Given the description of an element on the screen output the (x, y) to click on. 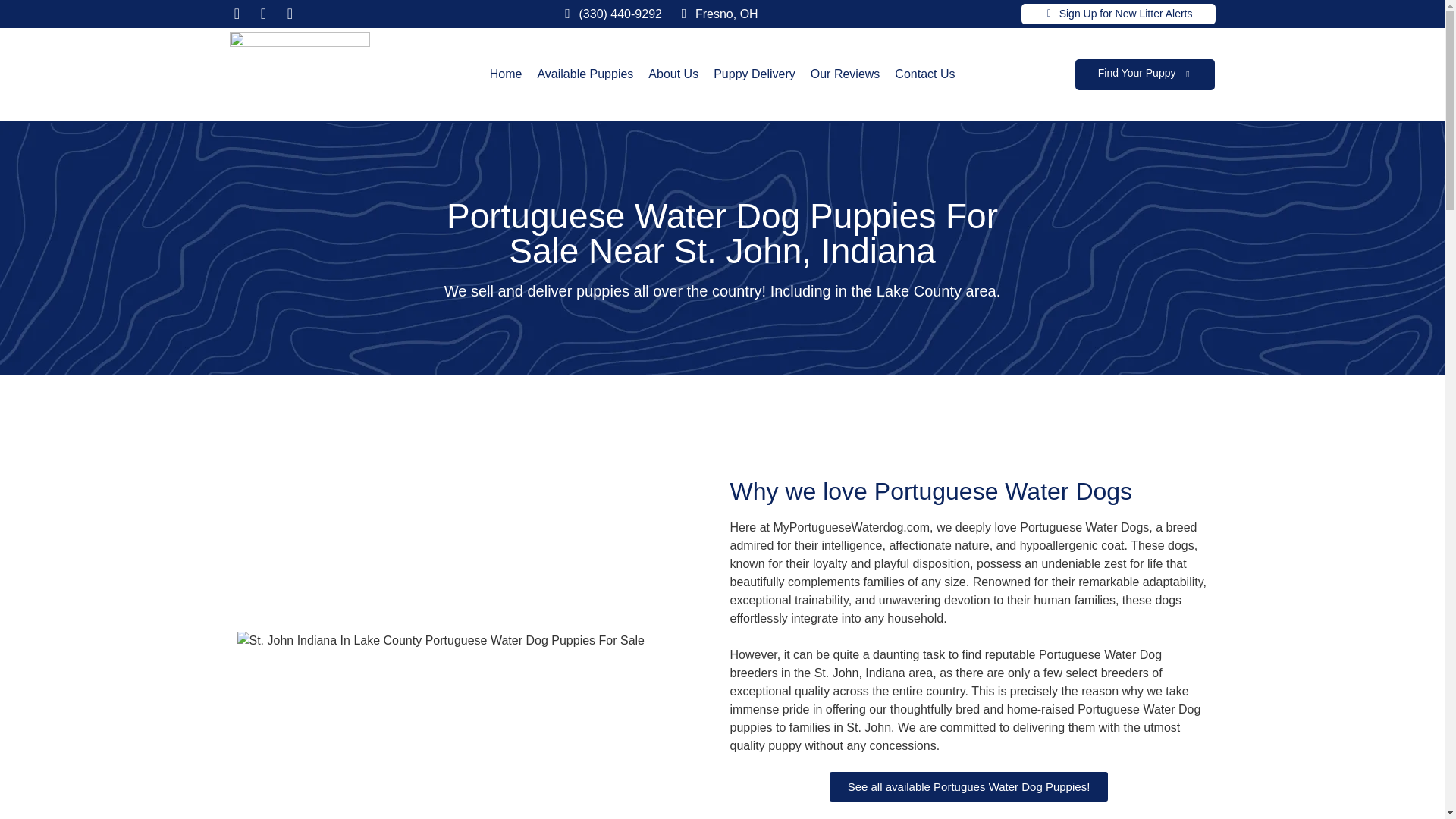
Home (505, 73)
Fresno, OH (726, 13)
See all available Portugues Water Dog Puppies! (968, 786)
Puppy Delivery (753, 73)
Our Reviews (845, 73)
Find Your Puppy (1136, 72)
Sign Up for New Litter Alerts (1125, 13)
Available Puppies (585, 73)
About Us (672, 73)
Contact Us (925, 73)
